Given the description of an element on the screen output the (x, y) to click on. 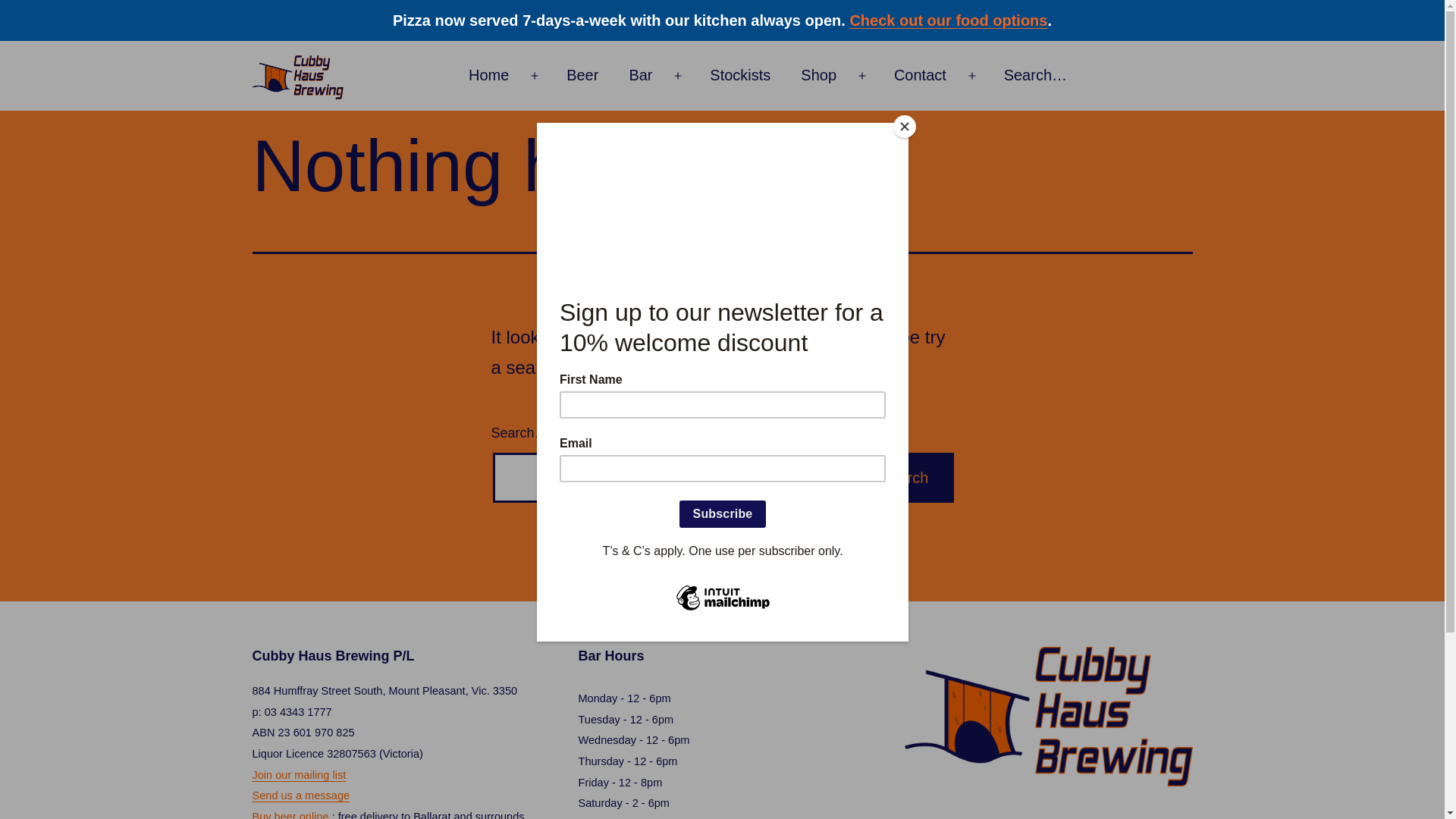
Search Element type: text (904, 477)
Join our mailing list Element type: text (298, 774)
Shop Element type: text (818, 75)
Send us a message Element type: text (300, 795)
Open menu Element type: text (971, 75)
Contact Element type: text (919, 75)
Bar Element type: text (640, 75)
Home Element type: text (488, 75)
Open menu Element type: text (534, 75)
Stockists Element type: text (739, 75)
Check out our food options Element type: text (948, 20)
Open menu Element type: text (677, 75)
Open menu Element type: text (861, 75)
Beer Element type: text (582, 75)
